Given the description of an element on the screen output the (x, y) to click on. 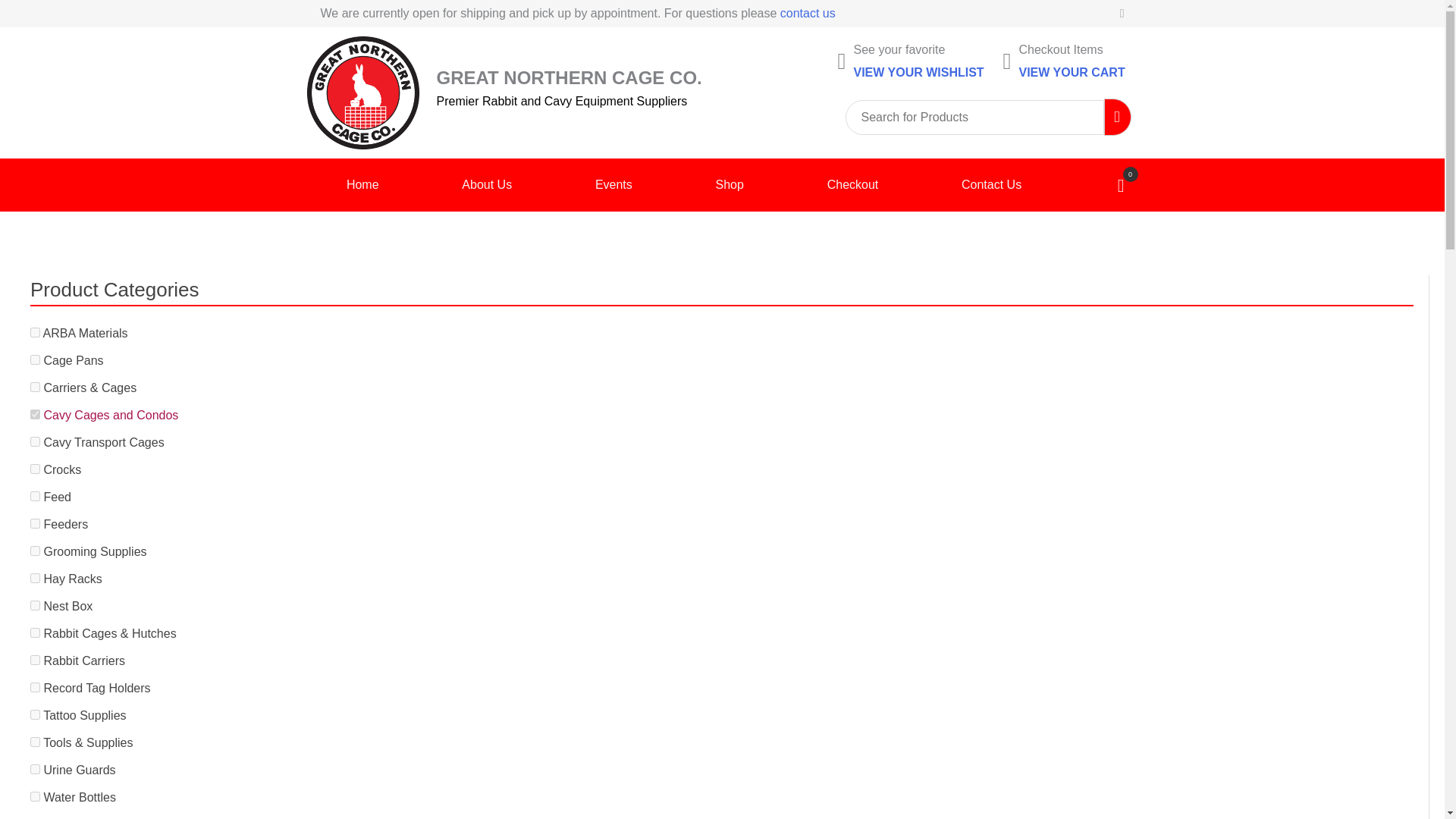
Crocks (62, 469)
Cavy Cages and Condos (110, 414)
Shop (729, 185)
cavy-transport-cages (35, 441)
feeders (35, 523)
Cavy Transport Cages (103, 441)
Contact Us (991, 185)
cage-pans (35, 359)
feed (35, 496)
ARBA Materials (85, 332)
water-bottles (35, 796)
Feeders (65, 523)
Checkout (852, 185)
rabbit-carriers (35, 660)
cavy-cages-condos (35, 414)
